Given the description of an element on the screen output the (x, y) to click on. 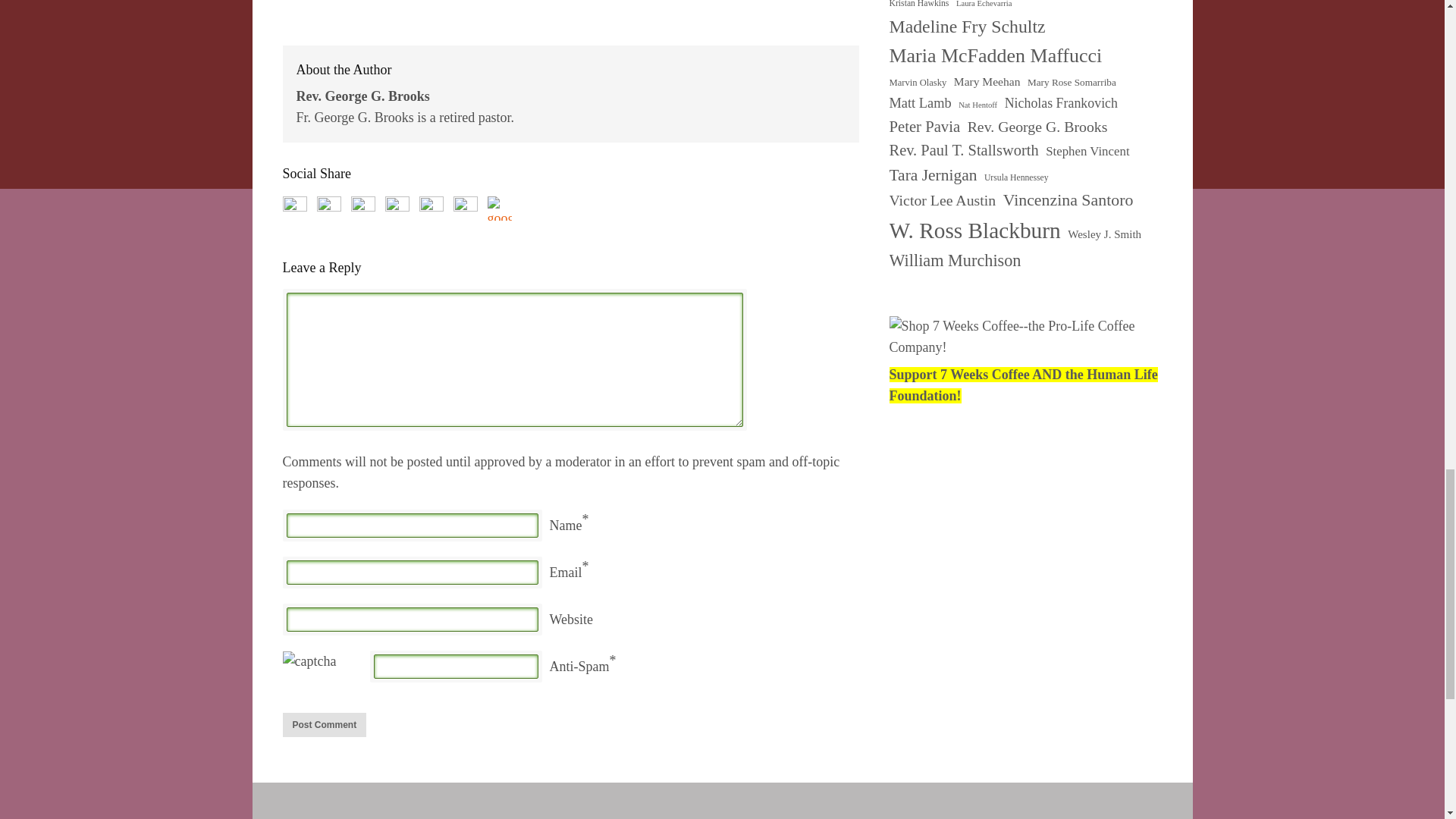
Post Comment (324, 724)
